Given the description of an element on the screen output the (x, y) to click on. 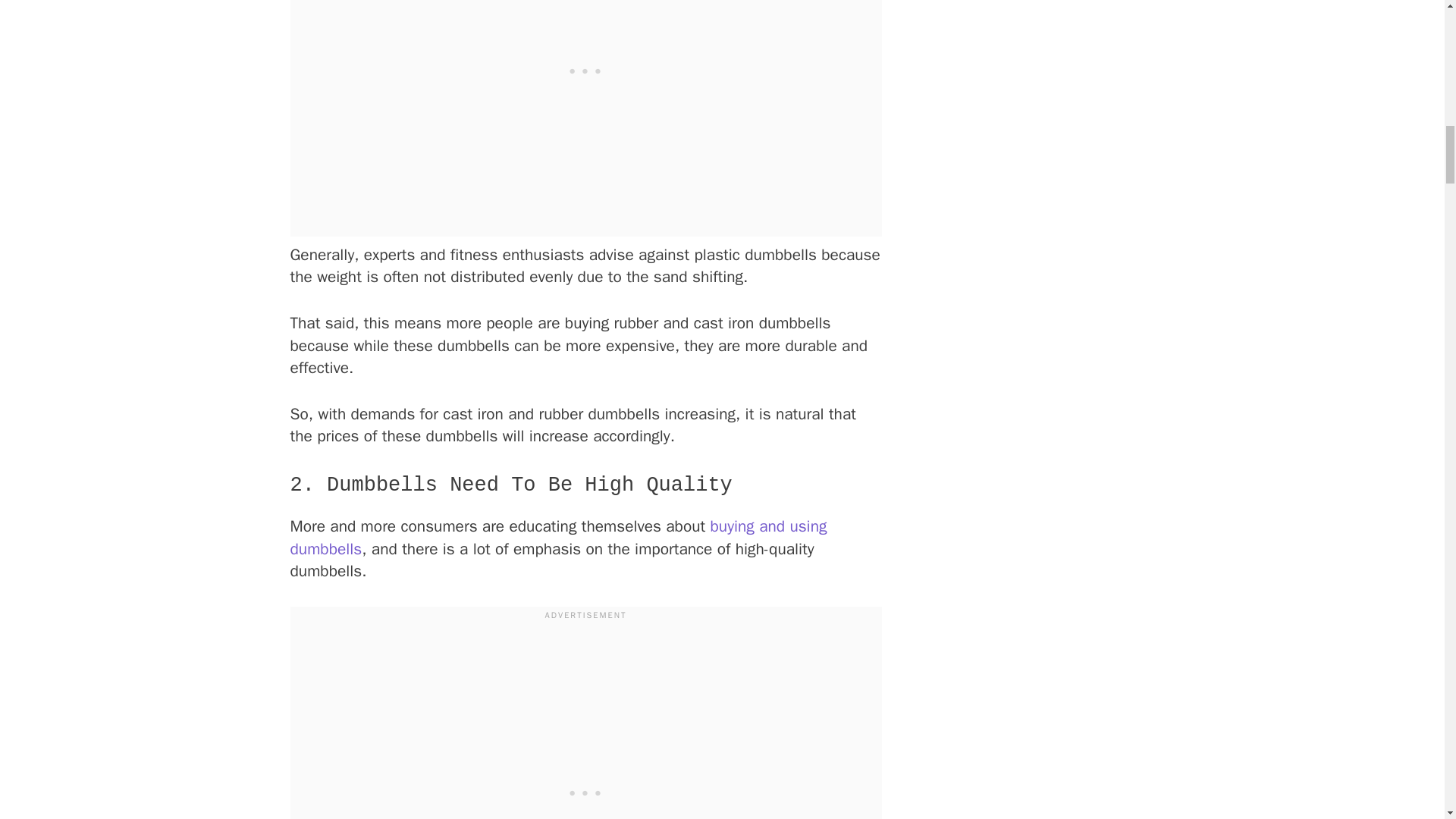
buying and using dumbbells (558, 536)
